Given the description of an element on the screen output the (x, y) to click on. 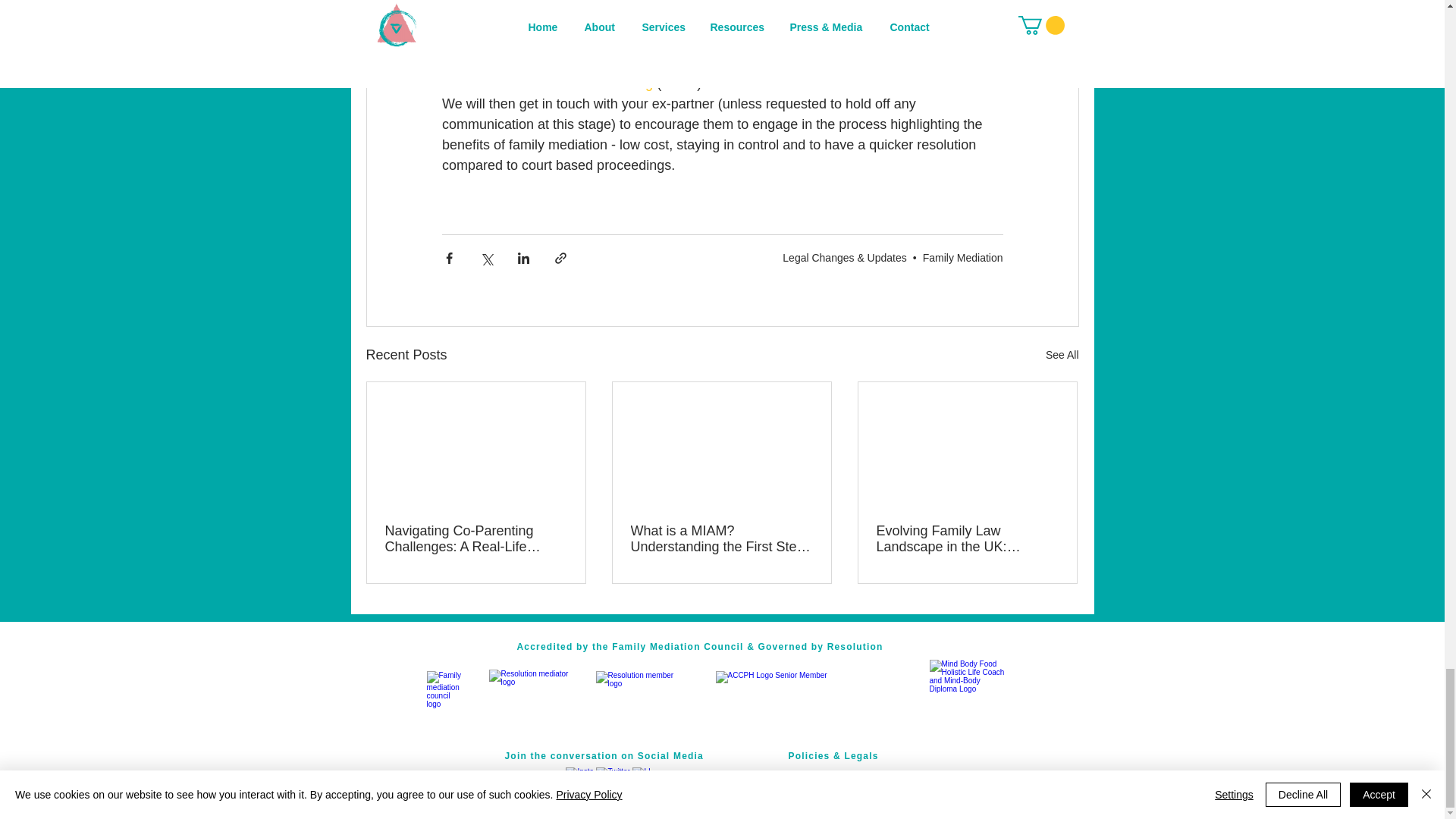
HLC MBP logo (968, 698)
FMC (444, 697)
Family Mediation (963, 257)
Instagram (580, 782)
Resolution member (642, 697)
Resolution mediator (528, 697)
here (781, 4)
Twitter (612, 782)
See All (1061, 354)
LinkedIn (646, 782)
Self-Referral Form (639, 62)
